Given the description of an element on the screen output the (x, y) to click on. 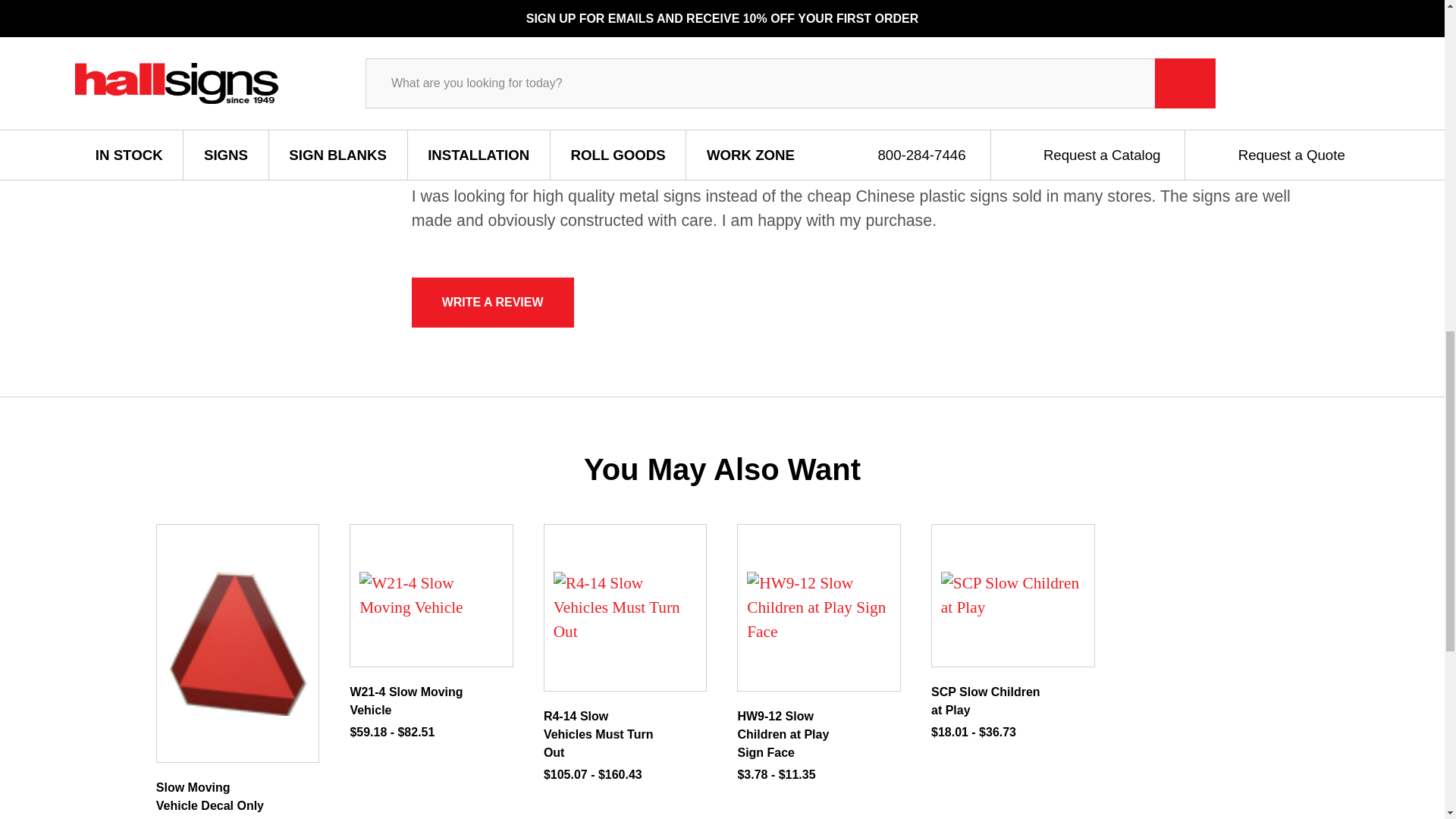
Slow Moving Vehicle Decal Only (237, 643)
HW9-12 Slow Children at Play Sign Face (818, 607)
SCP Slow Children at Play (1012, 595)
R4-14 Slow Vehicles Must Turn Out (625, 607)
W21-4 Slow Moving Vehicle (431, 595)
